Given the description of an element on the screen output the (x, y) to click on. 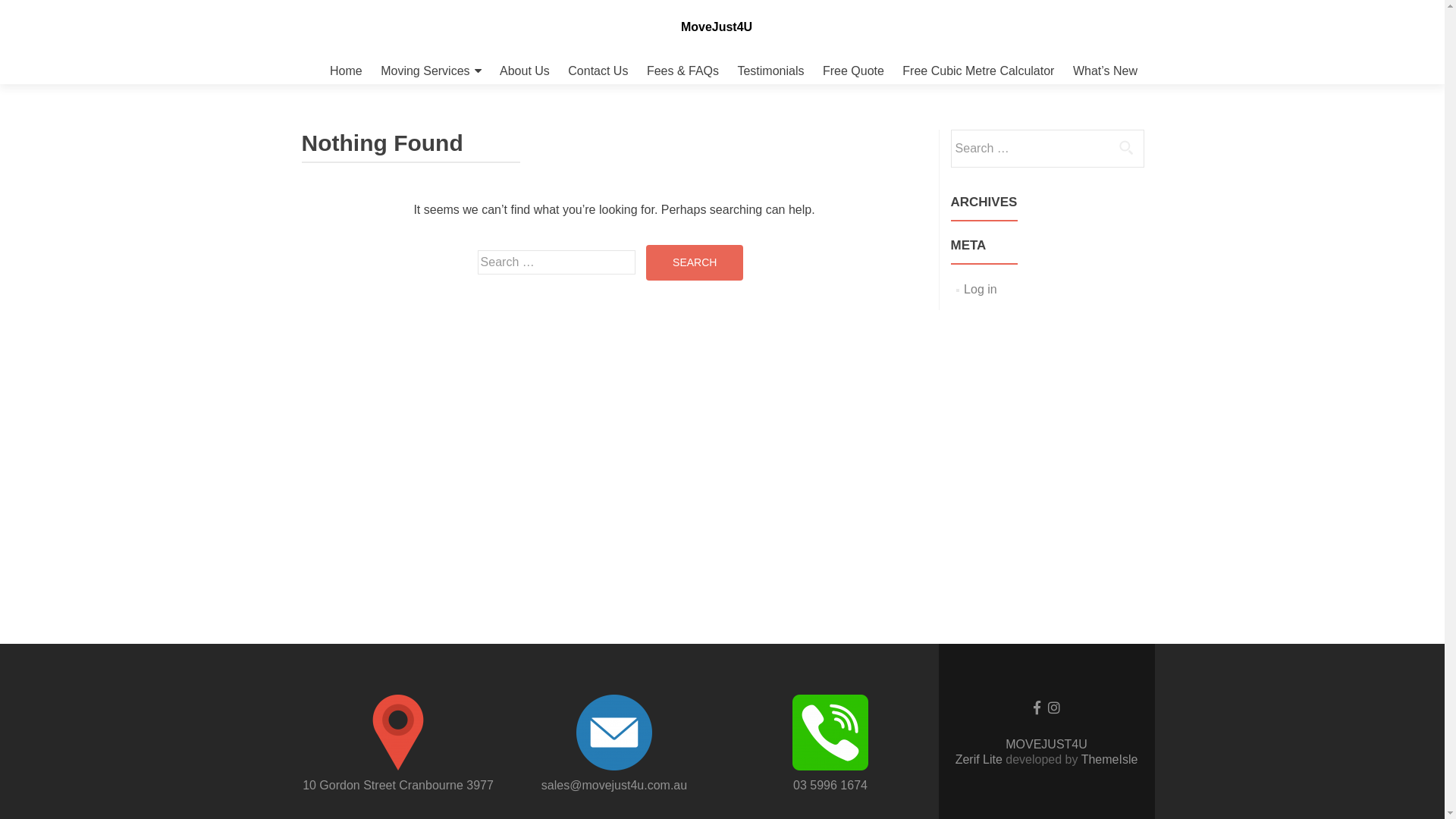
Contact Us Element type: text (597, 70)
Free Cubic Metre Calculator Element type: text (978, 70)
MoveJust4U Element type: text (716, 26)
Home Element type: text (345, 70)
Skip to content Element type: text (300, 56)
Free Quote Element type: text (853, 70)
Moving Services Element type: text (430, 70)
Facebook link Element type: text (1035, 706)
ThemeIsle Element type: text (1109, 759)
Instagram link Element type: text (1054, 706)
About Us Element type: text (524, 70)
Search Element type: text (1125, 146)
Testimonials Element type: text (770, 70)
Zerif Lite Element type: text (980, 759)
Fees & FAQs Element type: text (682, 70)
Log in Element type: text (980, 288)
Search Element type: text (694, 262)
